Given the description of an element on the screen output the (x, y) to click on. 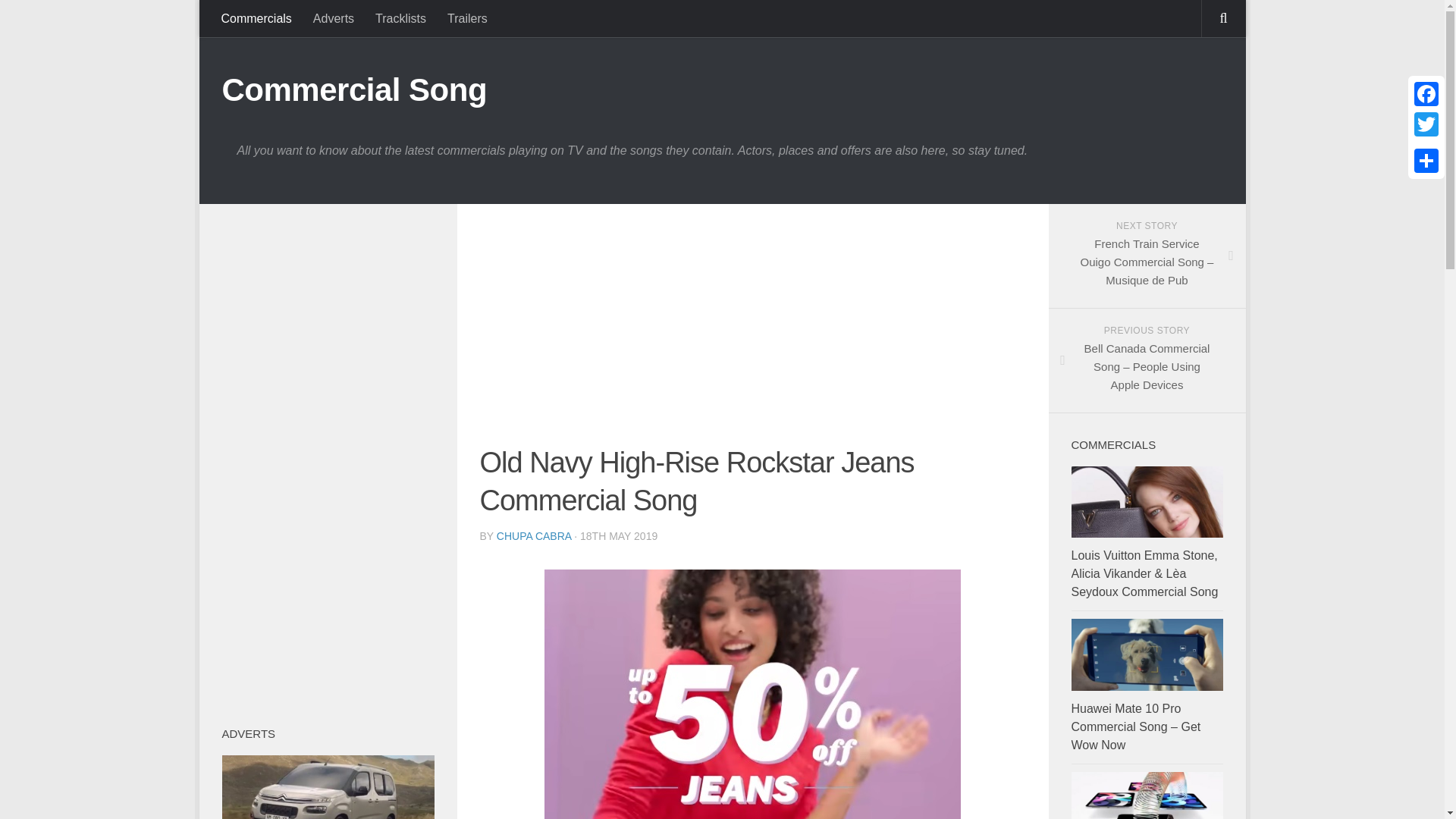
Adverts (333, 18)
Trailers (466, 18)
CHUPA CABRA (534, 535)
Tracklists (400, 18)
Commercial Song (353, 90)
Posts by Chupa Cabra (534, 535)
Commercials (256, 18)
